Given the description of an element on the screen output the (x, y) to click on. 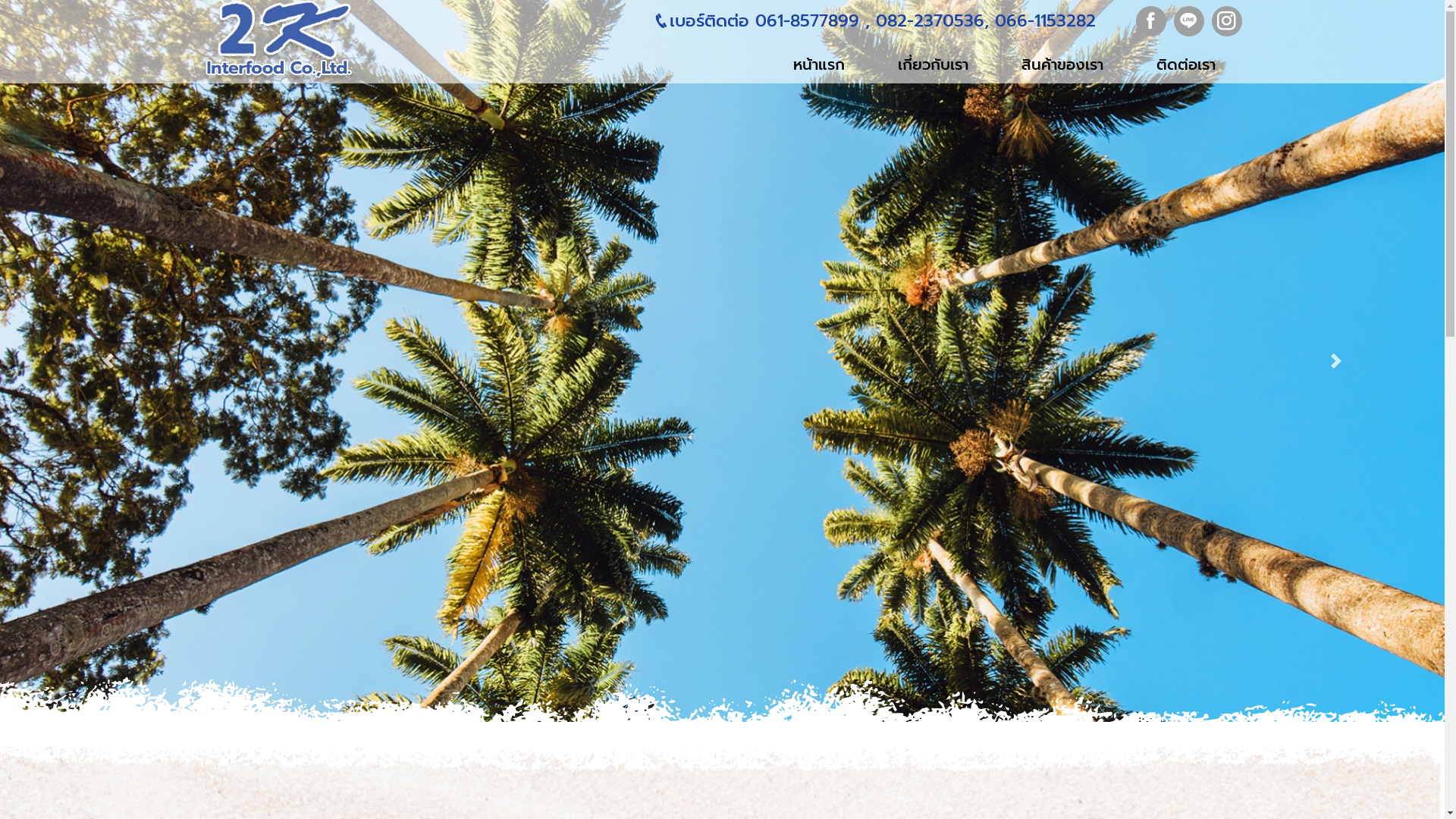
066-1153282 Element type: text (1041, 20)
Previous Element type: text (108, 360)
Next Element type: text (1335, 360)
061-8577899 Element type: text (807, 20)
082-2370536 Element type: text (926, 20)
